Given the description of an element on the screen output the (x, y) to click on. 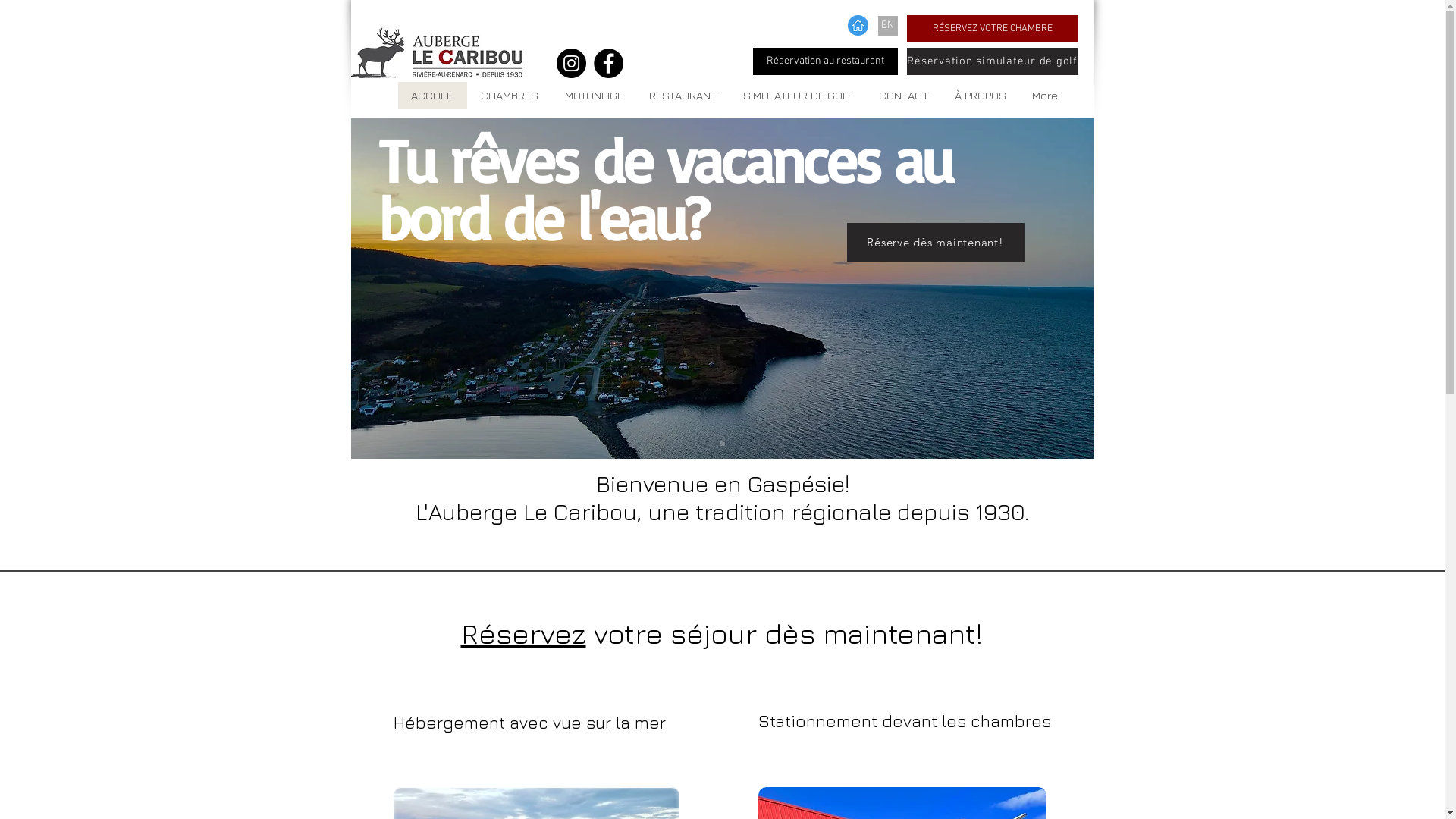
SIMULATEUR DE GOLF Element type: text (797, 95)
RESTAURANT Element type: text (682, 95)
cariboulogo,jpg.jpg Element type: hover (435, 51)
MOTONEIGE Element type: text (592, 95)
CONTACT Element type: text (903, 95)
ACCUEIL Element type: text (431, 95)
EN Element type: text (887, 25)
CHAMBRES Element type: text (509, 95)
